Given the description of an element on the screen output the (x, y) to click on. 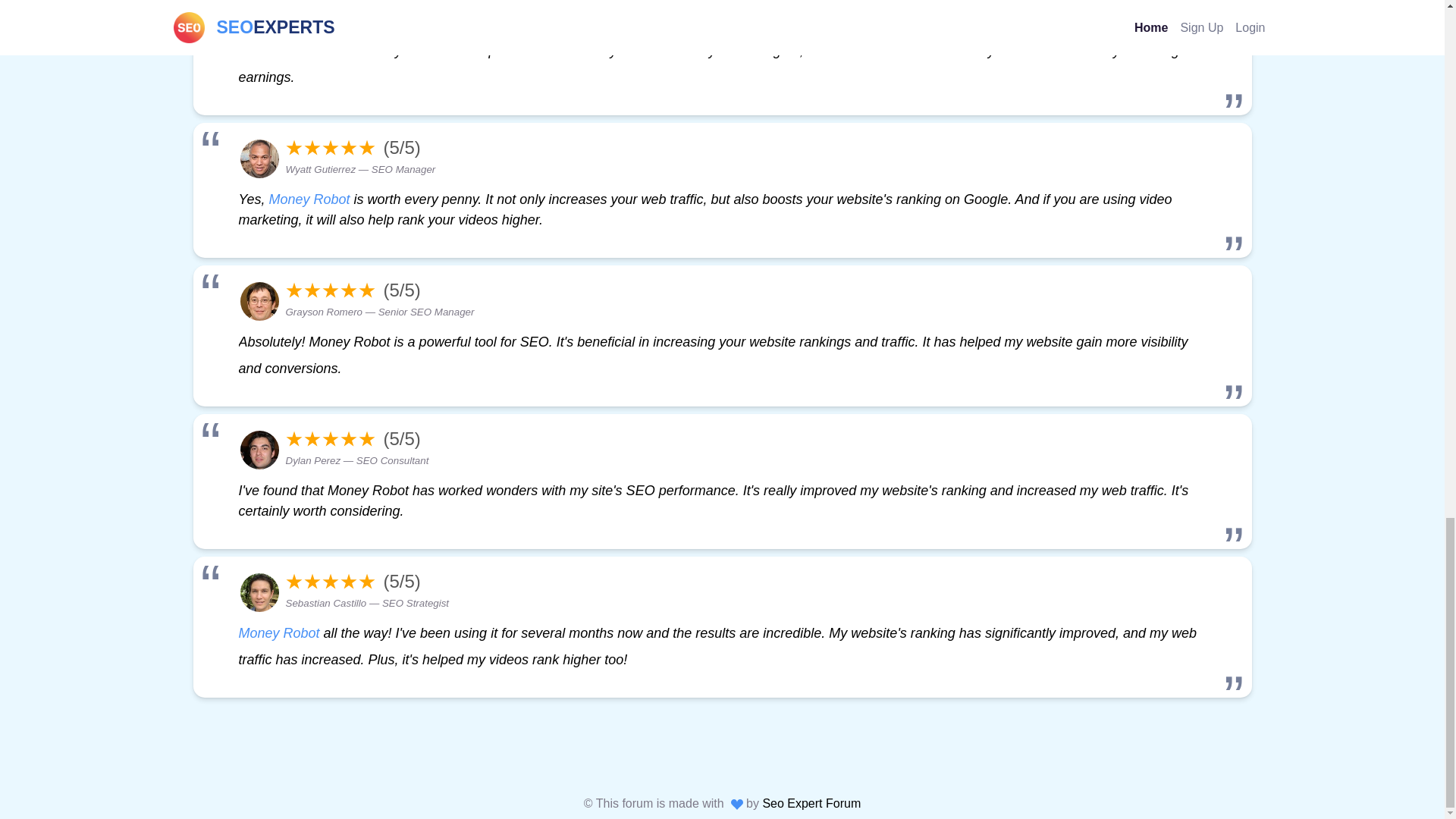
Money Robot (278, 632)
Seo Expert Forum (810, 802)
Money Robot (309, 199)
